Given the description of an element on the screen output the (x, y) to click on. 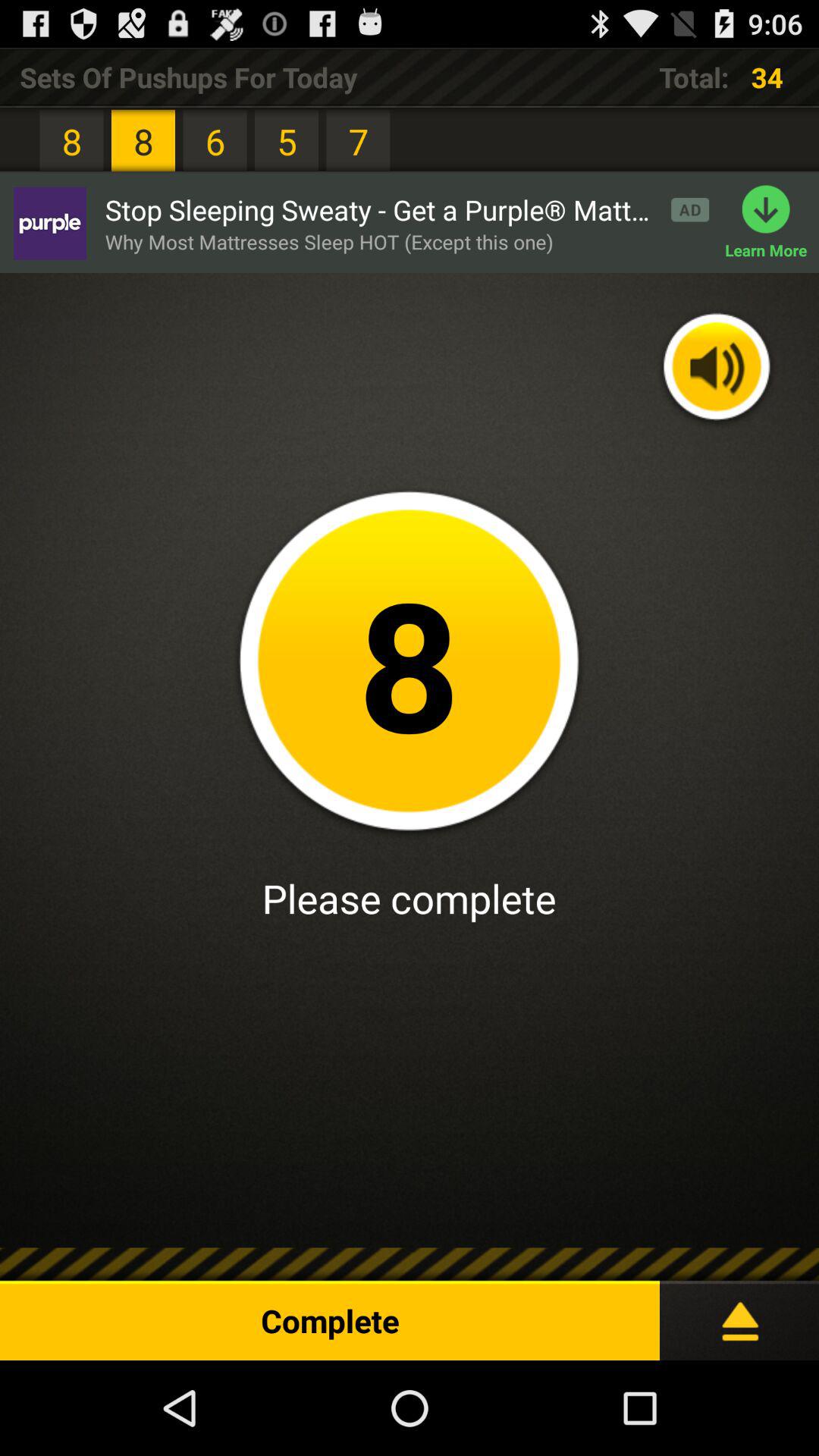
click app next to the learn more (329, 241)
